Given the description of an element on the screen output the (x, y) to click on. 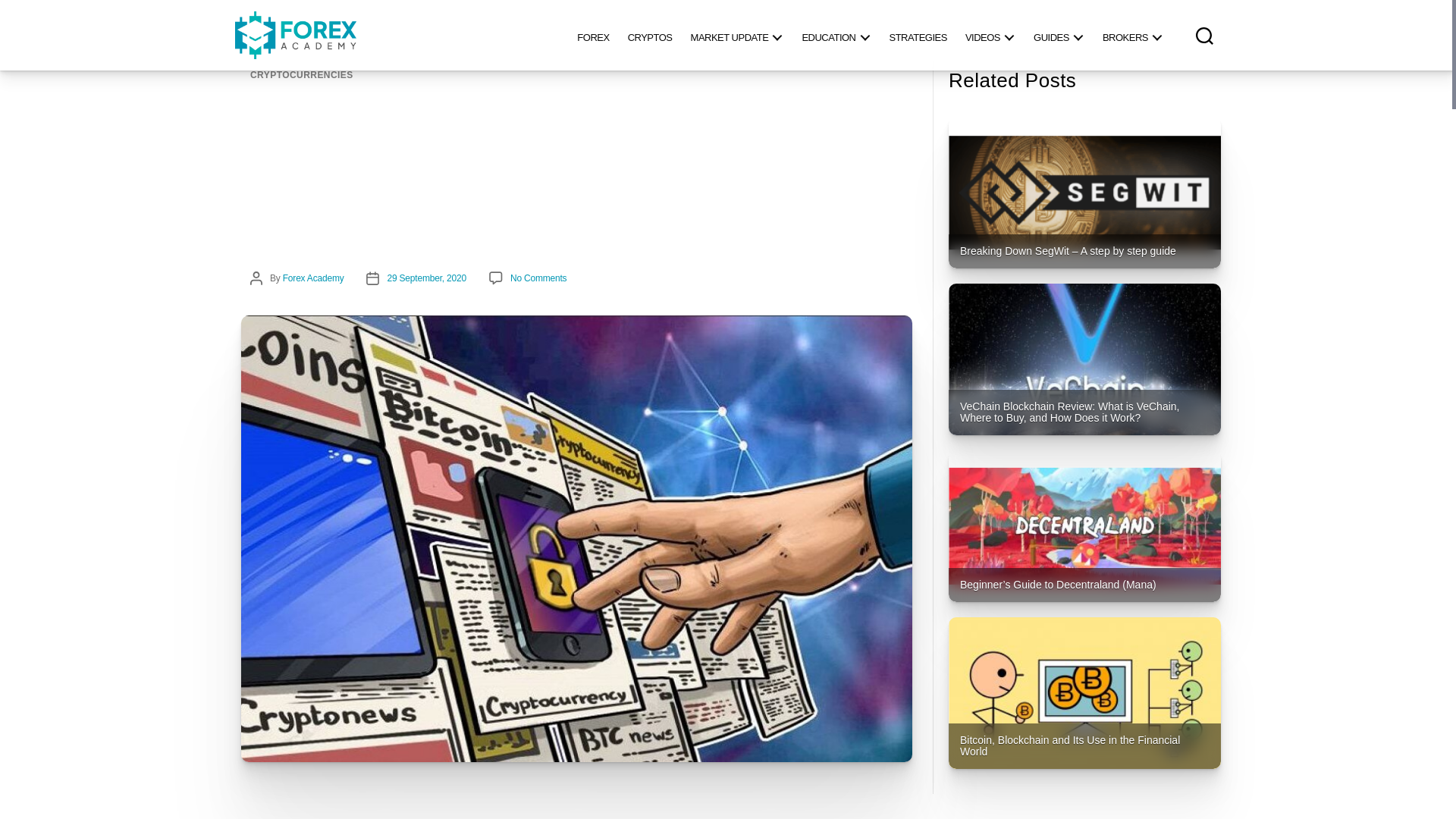
MARKET UPDATE (737, 35)
STRATEGIES (917, 35)
Bitcoin, Blockchain and Its Use in the Financial World (1085, 693)
GUIDES (1059, 35)
VIDEOS (990, 35)
EDUCATION (835, 35)
CRYPTOS (649, 35)
BROKERS (1132, 35)
